Given the description of an element on the screen output the (x, y) to click on. 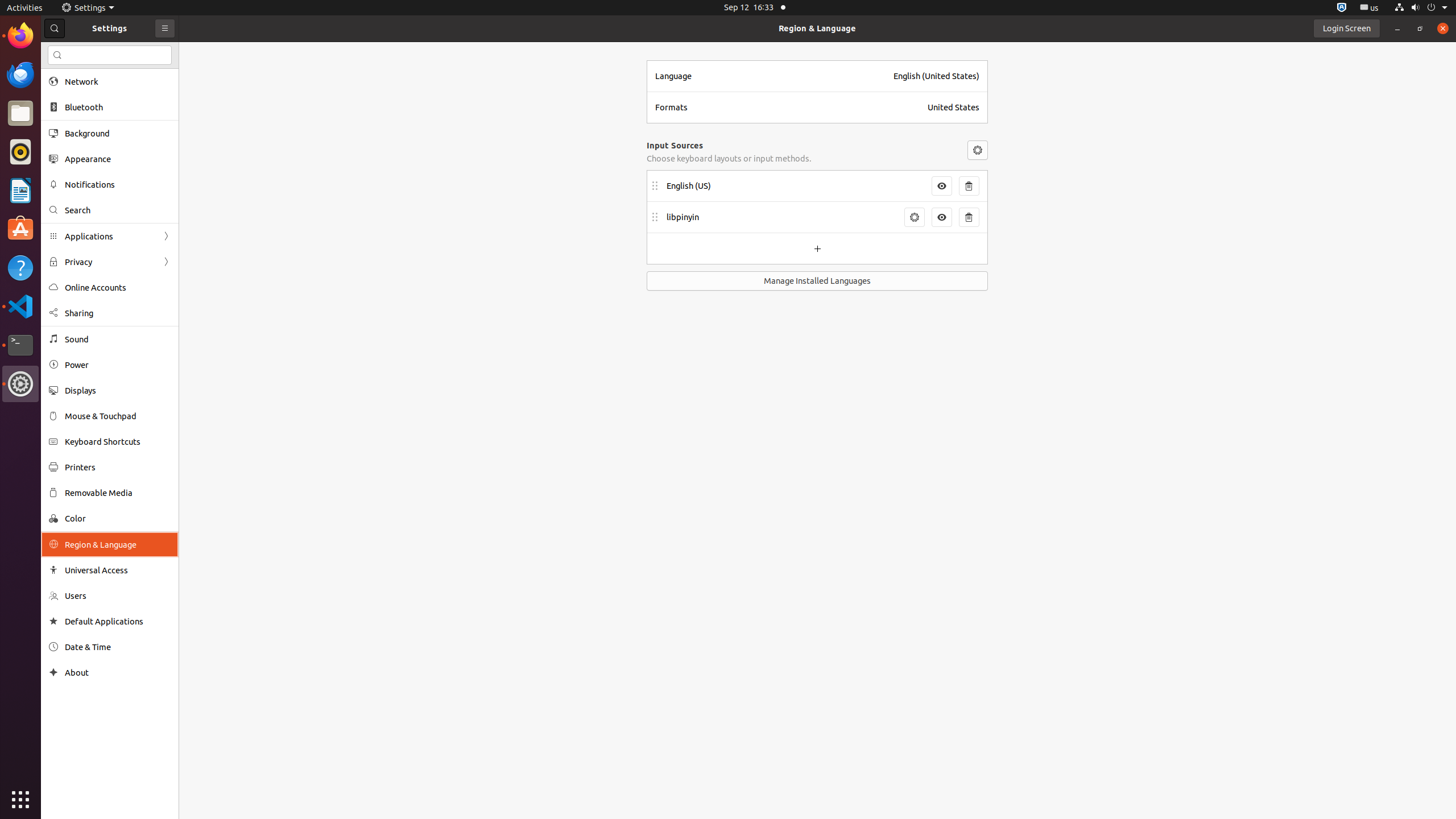
Date & Time Element type: label (117, 646)
Close Element type: push-button (1442, 27)
Privacy Element type: label (109, 261)
Trash Element type: label (75, 108)
